Given the description of an element on the screen output the (x, y) to click on. 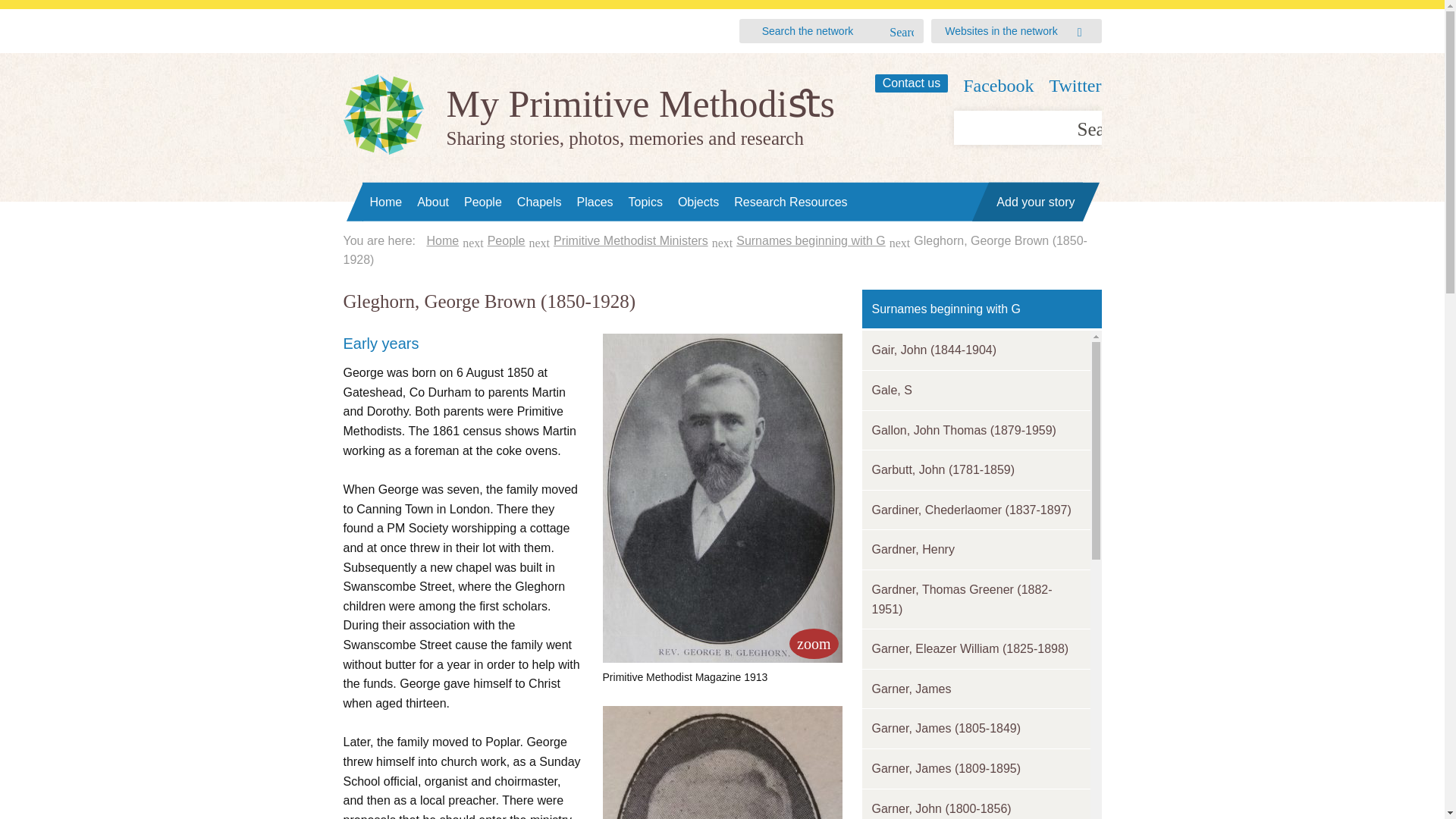
People (506, 240)
About (433, 201)
Add your story (1034, 201)
Topics (645, 201)
zoom (813, 643)
Home (442, 240)
Primitive Methodist Magazine 1929 (722, 762)
Facebook (997, 85)
Search (901, 32)
Primitive Methodist Magazine 1913 (813, 643)
Objects (697, 201)
Websites in the network (1000, 30)
Search the network (823, 30)
Twitter (1075, 85)
Primitive Methodist Ministers (630, 240)
